Given the description of an element on the screen output the (x, y) to click on. 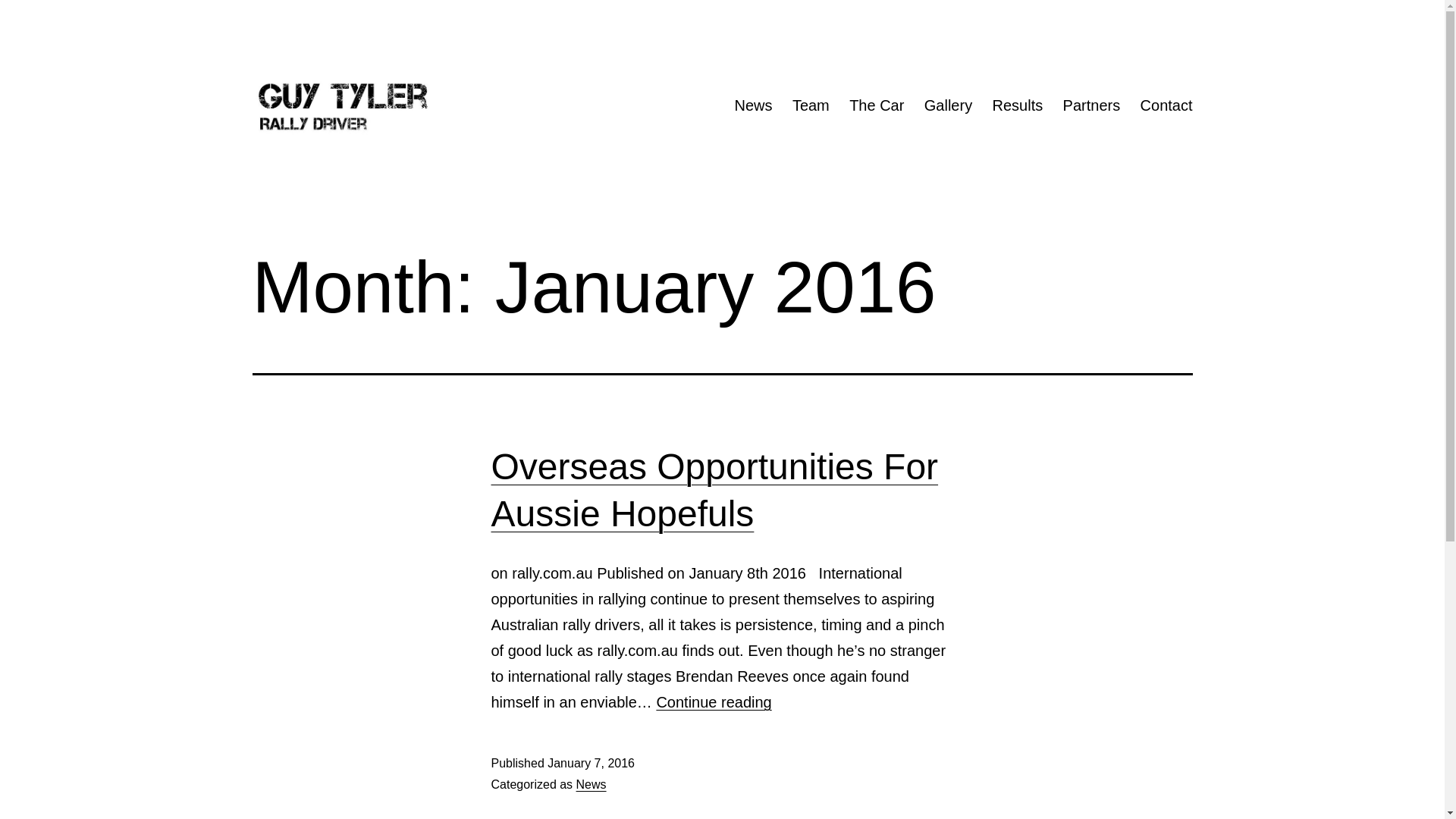
News Element type: text (591, 784)
News Element type: text (752, 104)
Gallery Element type: text (948, 104)
Contact Element type: text (1165, 104)
Results Element type: text (1017, 104)
Overseas Opportunities For Aussie Hopefuls Element type: text (714, 489)
Continue reading
Overseas Opportunities For Aussie Hopefuls Element type: text (713, 701)
Team Element type: text (810, 104)
Partners Element type: text (1090, 104)
The Car Element type: text (876, 104)
